Given the description of an element on the screen output the (x, y) to click on. 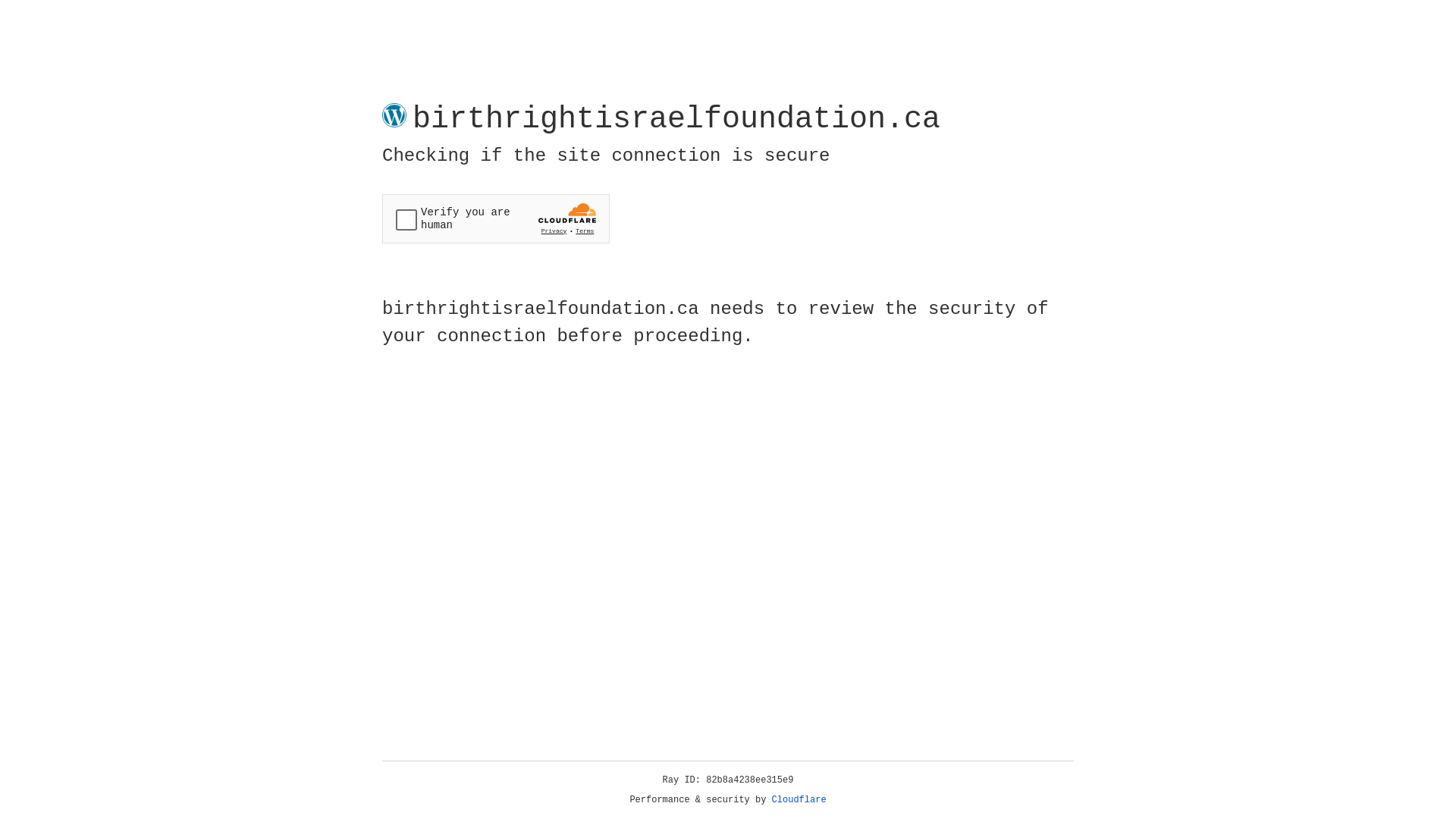
Widget containing a Cloudflare security challenge Element type: hover (495, 218)
Cloudflare Element type: text (798, 799)
